Given the description of an element on the screen output the (x, y) to click on. 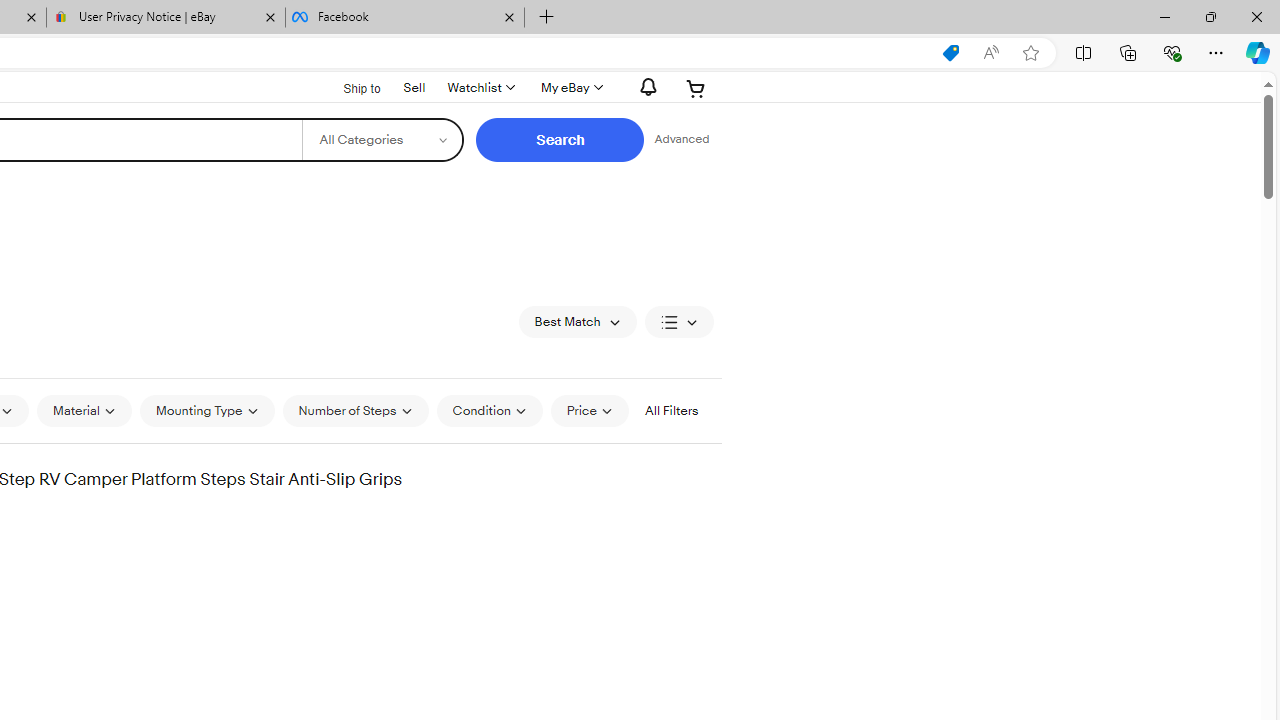
Number of Steps (354, 410)
User Privacy Notice | eBay (166, 17)
Advanced Search (681, 139)
Condition (489, 410)
View: List View (678, 321)
My eBay (569, 88)
Sell (413, 86)
Material (84, 410)
Search (560, 140)
Your shopping cart (696, 88)
Sell (414, 87)
